Given the description of an element on the screen output the (x, y) to click on. 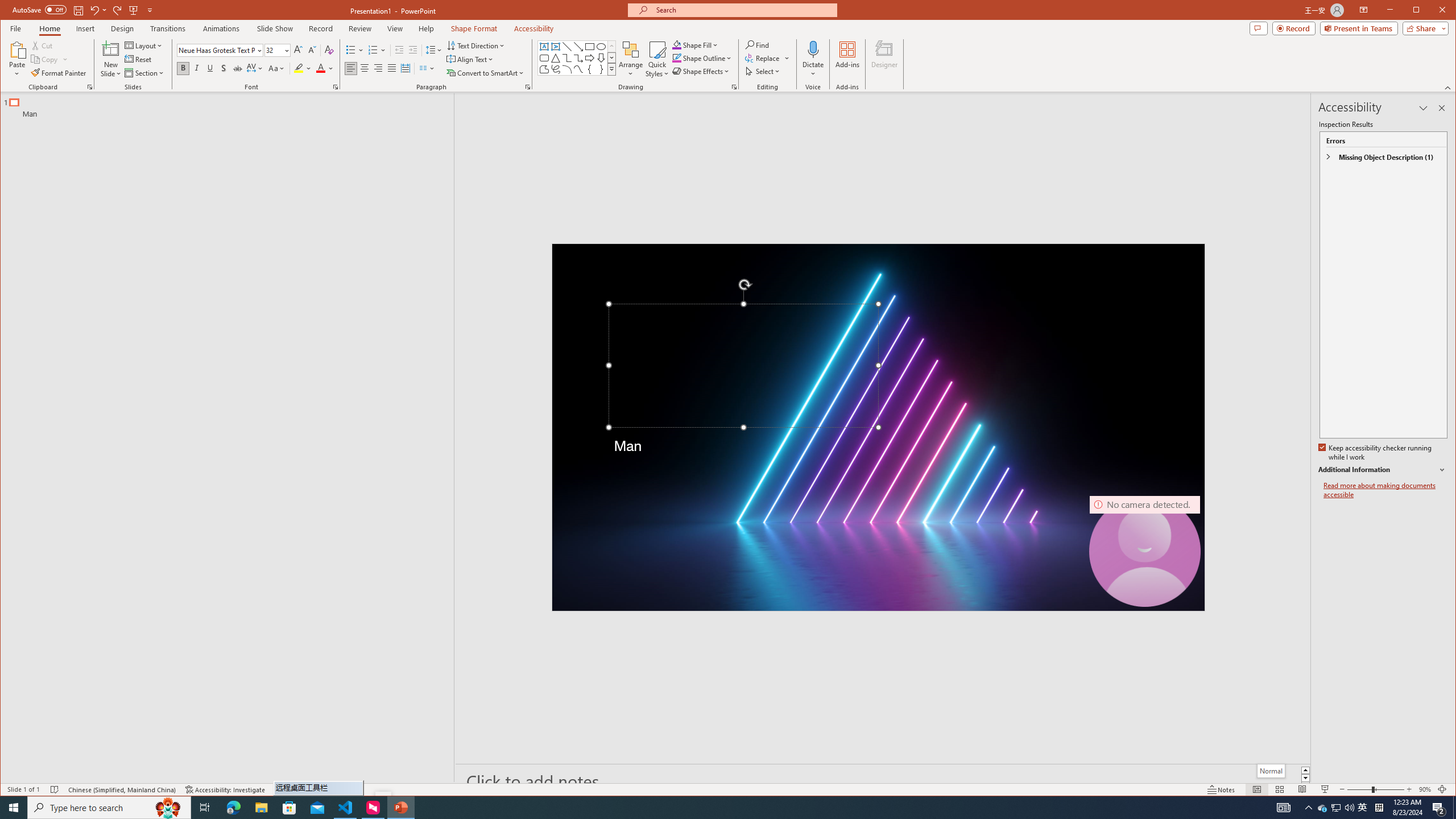
Align Left (350, 68)
Align Text (470, 59)
Outline (231, 104)
Running applications (700, 807)
Line Spacing (433, 49)
Arrow: Down (601, 57)
Right Brace (601, 69)
Align Right (377, 68)
Oval (601, 46)
